Given the description of an element on the screen output the (x, y) to click on. 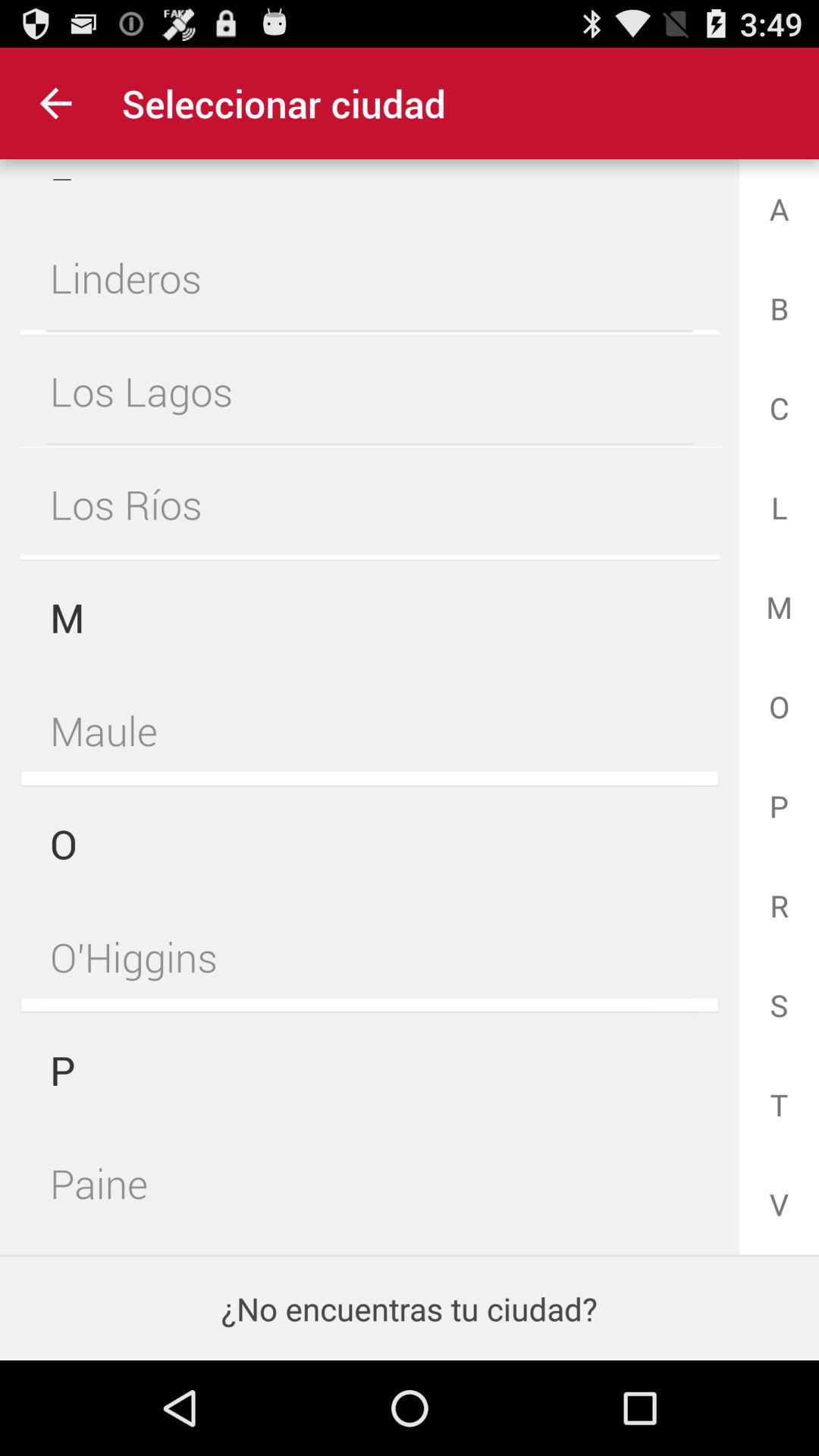
open los lagos icon (369, 390)
